Given the description of an element on the screen output the (x, y) to click on. 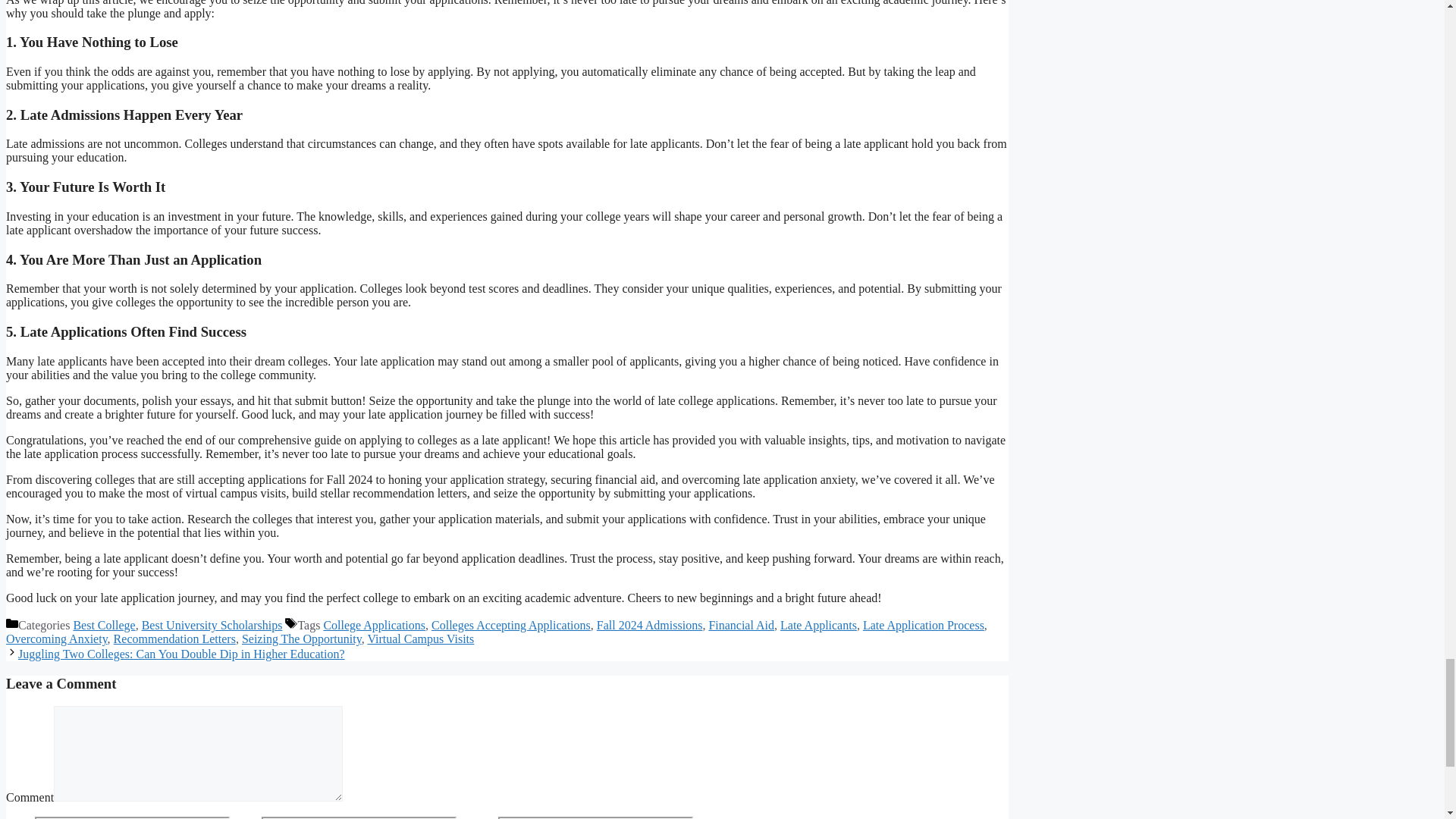
Overcoming Anxiety (56, 638)
Colleges Accepting Applications (510, 625)
Financial Aid (740, 625)
Fall 2024 Admissions (649, 625)
Late Application Process (923, 625)
Seizing The Opportunity (301, 638)
Best University Scholarships (211, 625)
Virtual Campus Visits (420, 638)
Best College (103, 625)
Late Applicants (818, 625)
